Given the description of an element on the screen output the (x, y) to click on. 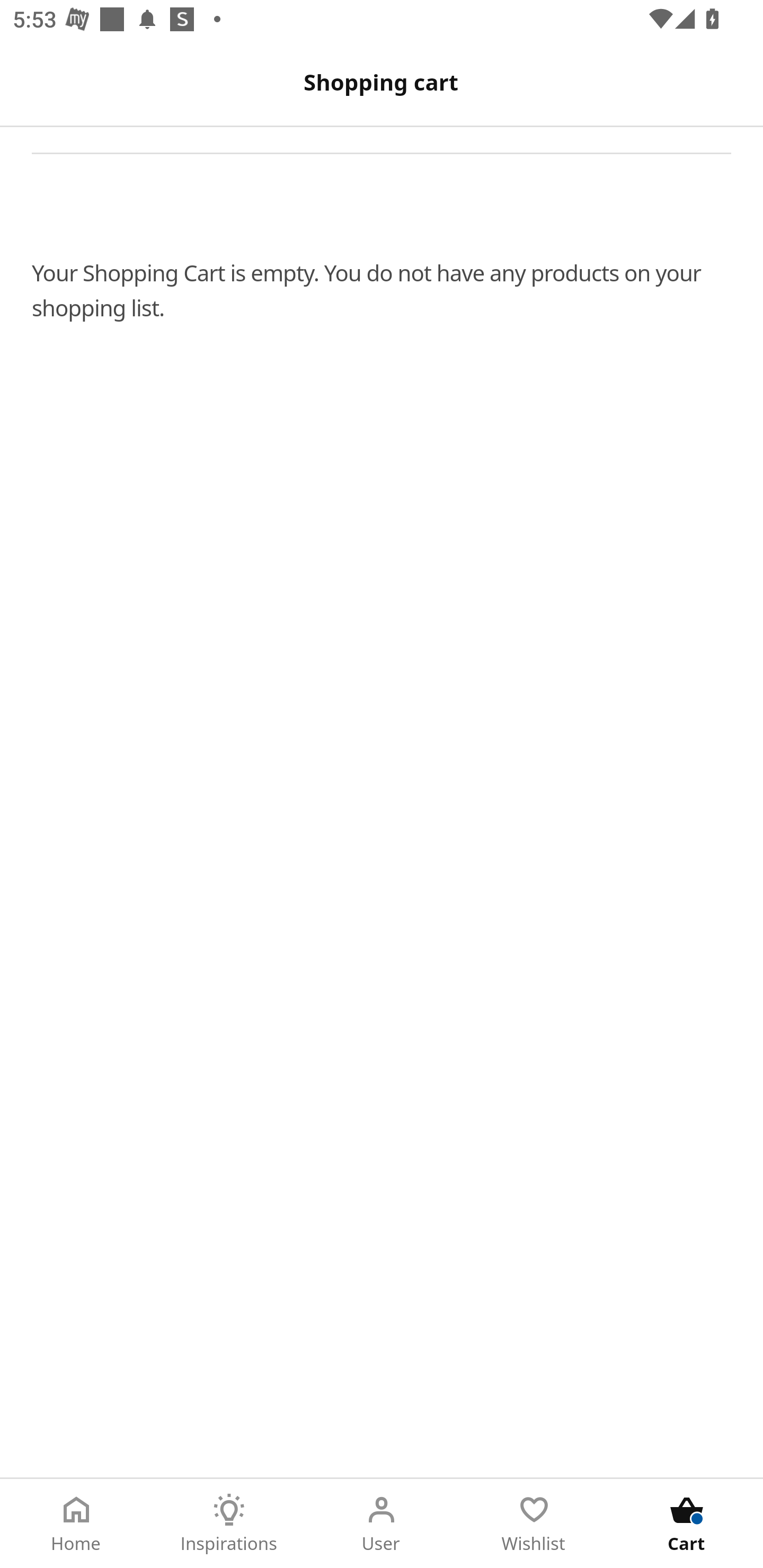
Home
Tab 1 of 5 (76, 1522)
Inspirations
Tab 2 of 5 (228, 1522)
User
Tab 3 of 5 (381, 1522)
Wishlist
Tab 4 of 5 (533, 1522)
Cart
Tab 5 of 5 (686, 1522)
